Given the description of an element on the screen output the (x, y) to click on. 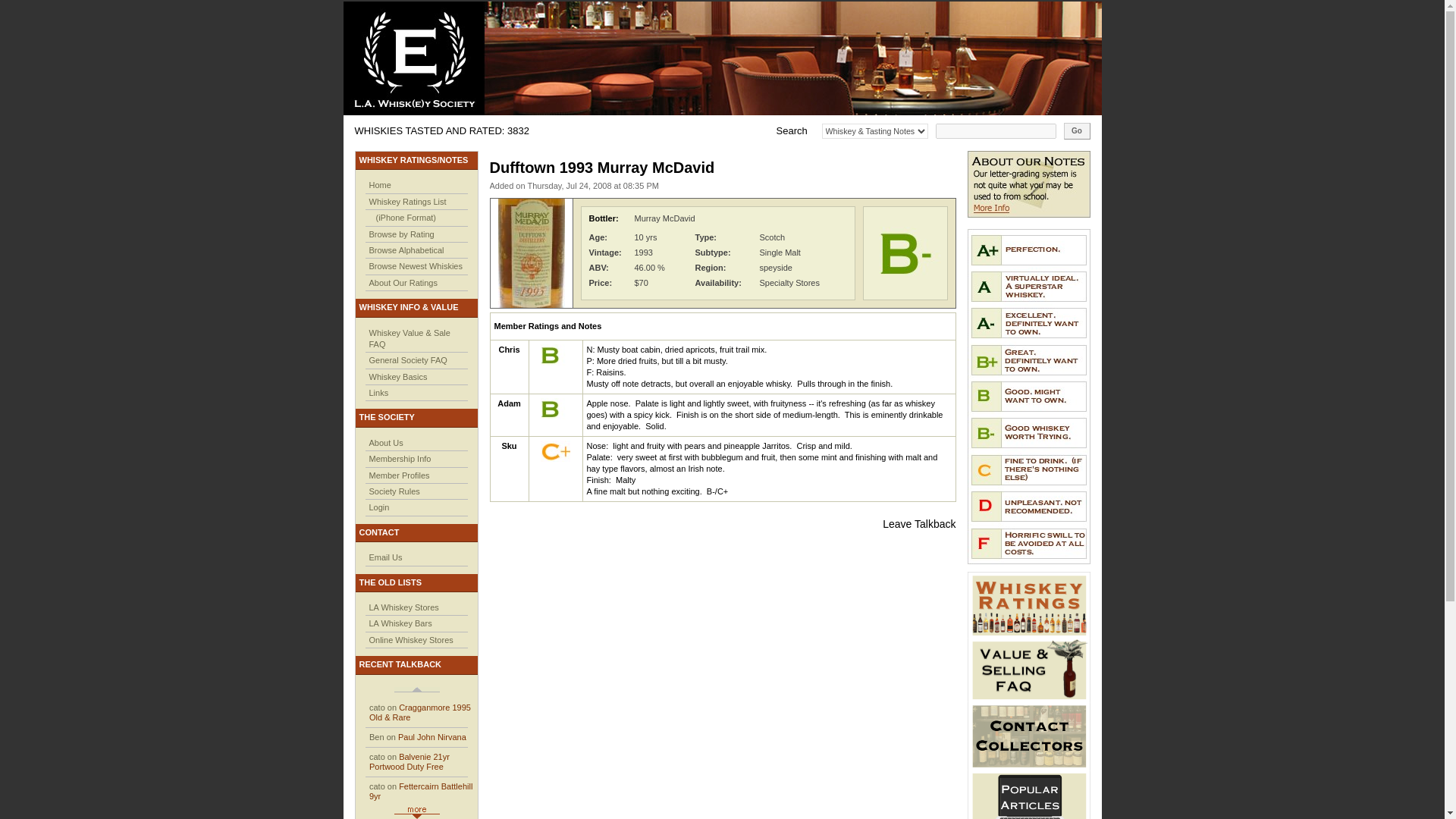
Links (378, 392)
LA Whiskey Stores (403, 606)
Chris (508, 348)
Sku (508, 445)
Whiskey Ratings List (406, 201)
Online Whiskey Stores (410, 639)
Email Us (384, 556)
Society Rules (393, 491)
Browse by Rating (400, 234)
Contact Collectors (1029, 735)
